Given the description of an element on the screen output the (x, y) to click on. 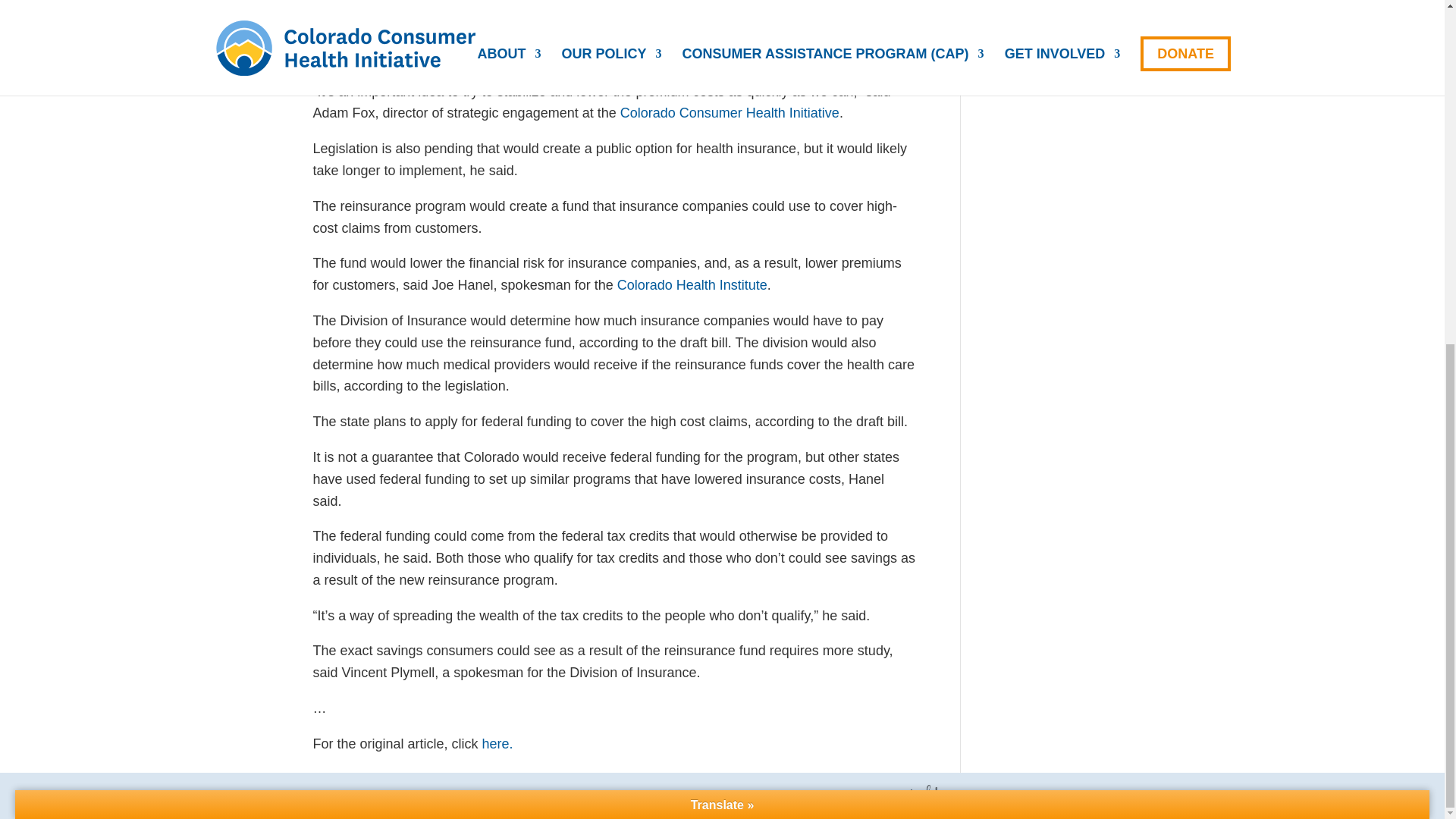
Colorado Consumer Health Initiative (730, 112)
Colorado Health Institute (692, 284)
here.  (498, 743)
